Given the description of an element on the screen output the (x, y) to click on. 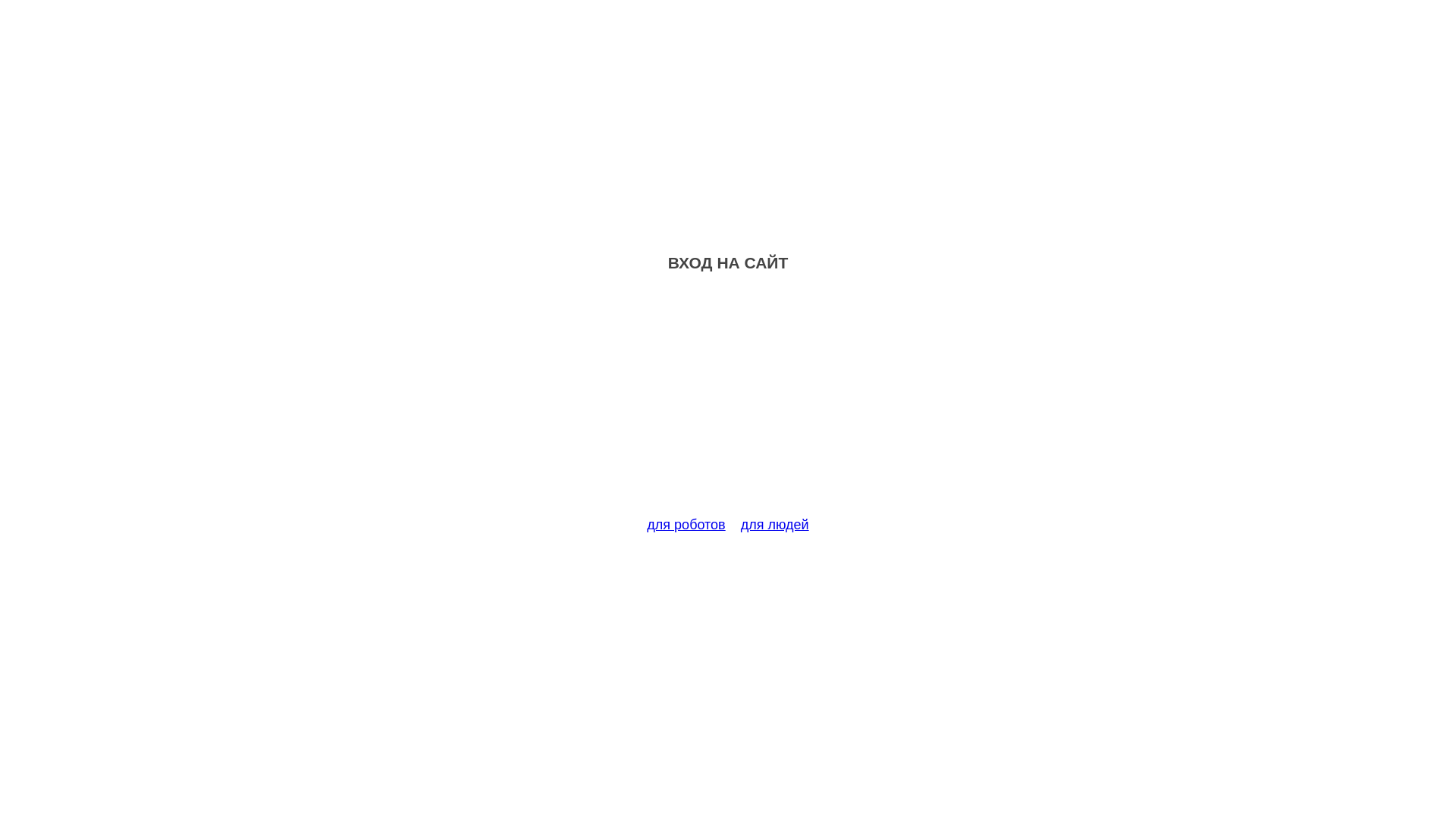
Advertisement Element type: hover (727, 403)
